Given the description of an element on the screen output the (x, y) to click on. 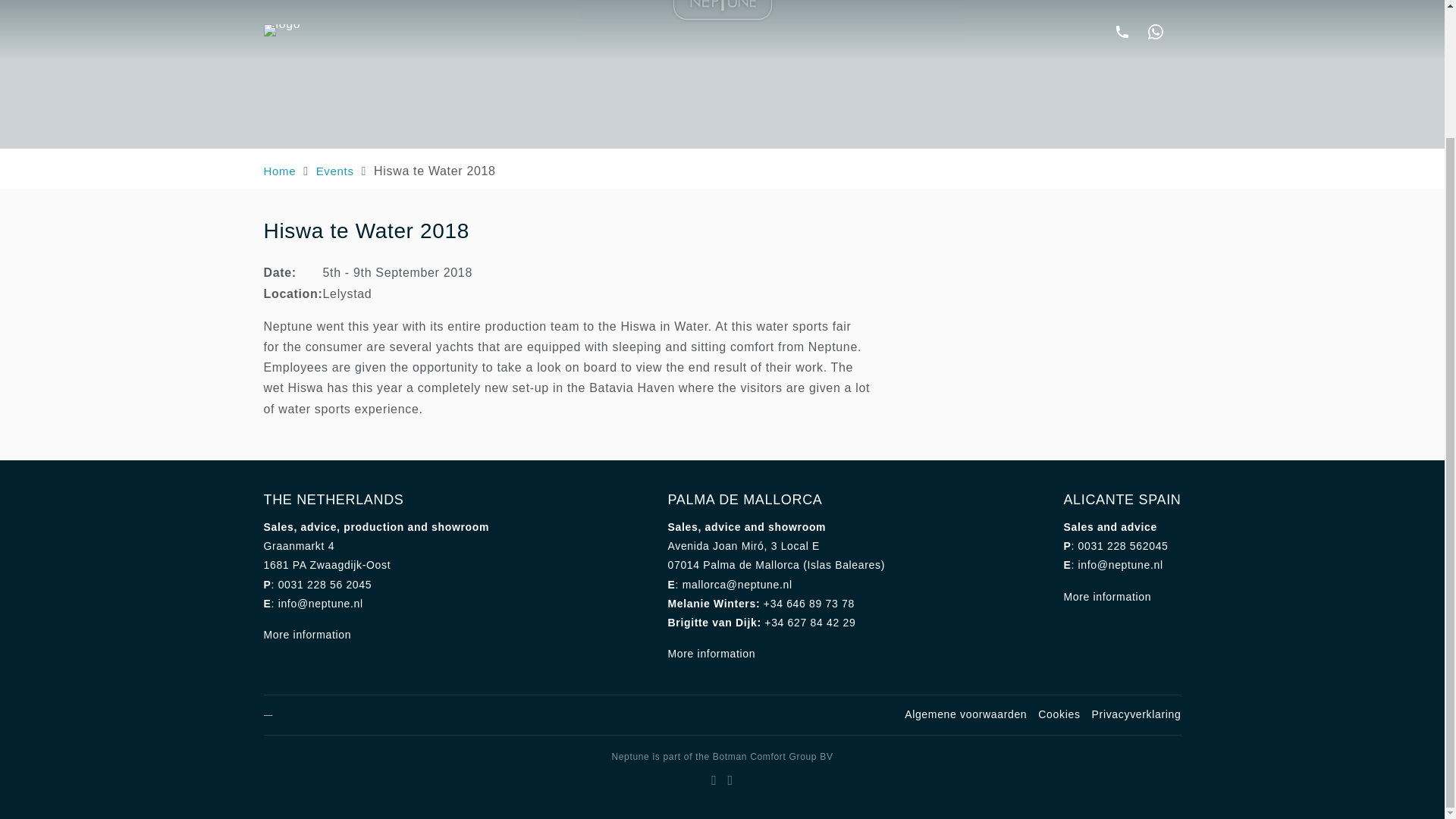
More information (710, 653)
Events (334, 170)
Algemene voorwaarden (965, 714)
More information (1106, 596)
Events (334, 170)
Home (280, 170)
Cookies (1059, 714)
Privacyverklaring (1136, 714)
0031 228 562045 (1123, 545)
Home (280, 170)
